Given the description of an element on the screen output the (x, y) to click on. 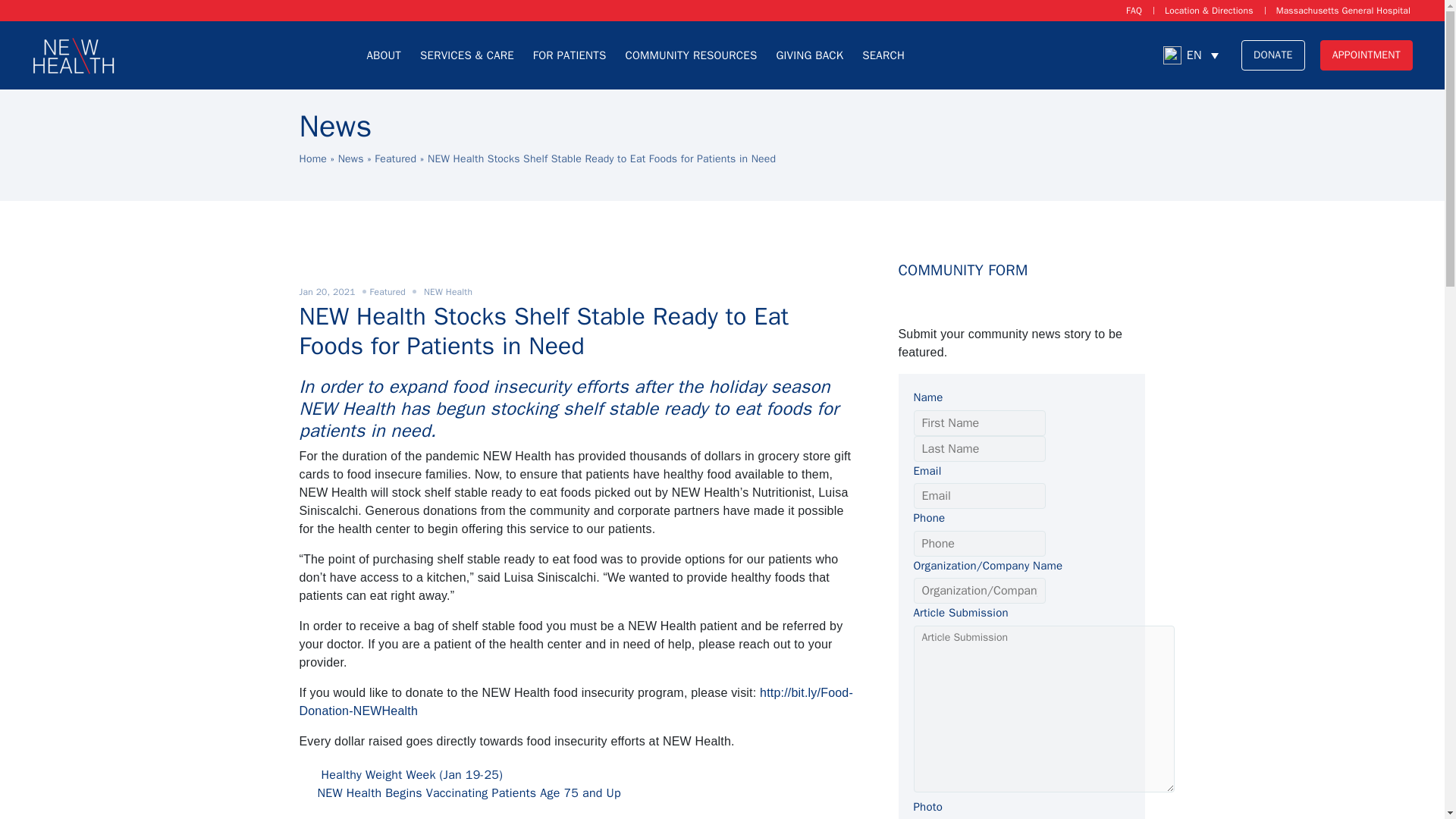
Massachusetts General Hospital (1343, 10)
COMMUNITY RESOURCES (690, 55)
FOR PATIENTS (569, 55)
FAQ (1134, 10)
